Given the description of an element on the screen output the (x, y) to click on. 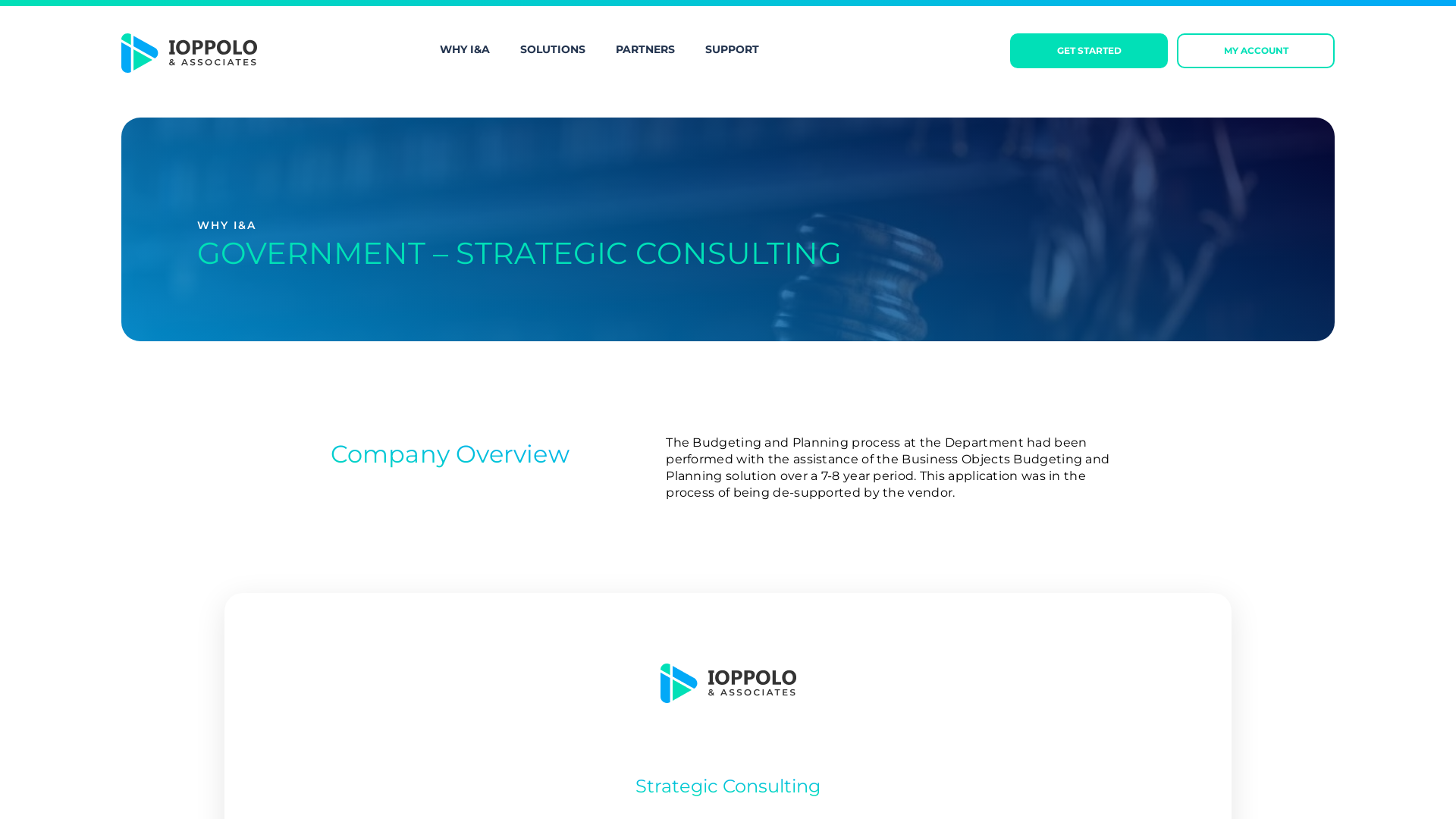
SUPPORT Element type: text (732, 48)
PARTNERS Element type: text (645, 48)
GET STARTED Element type: text (1088, 50)
SOLUTIONS Element type: text (552, 48)
Logo Element type: hover (189, 52)
WHY I&A Element type: text (464, 48)
MY ACCOUNT Element type: text (1255, 50)
